Given the description of an element on the screen output the (x, y) to click on. 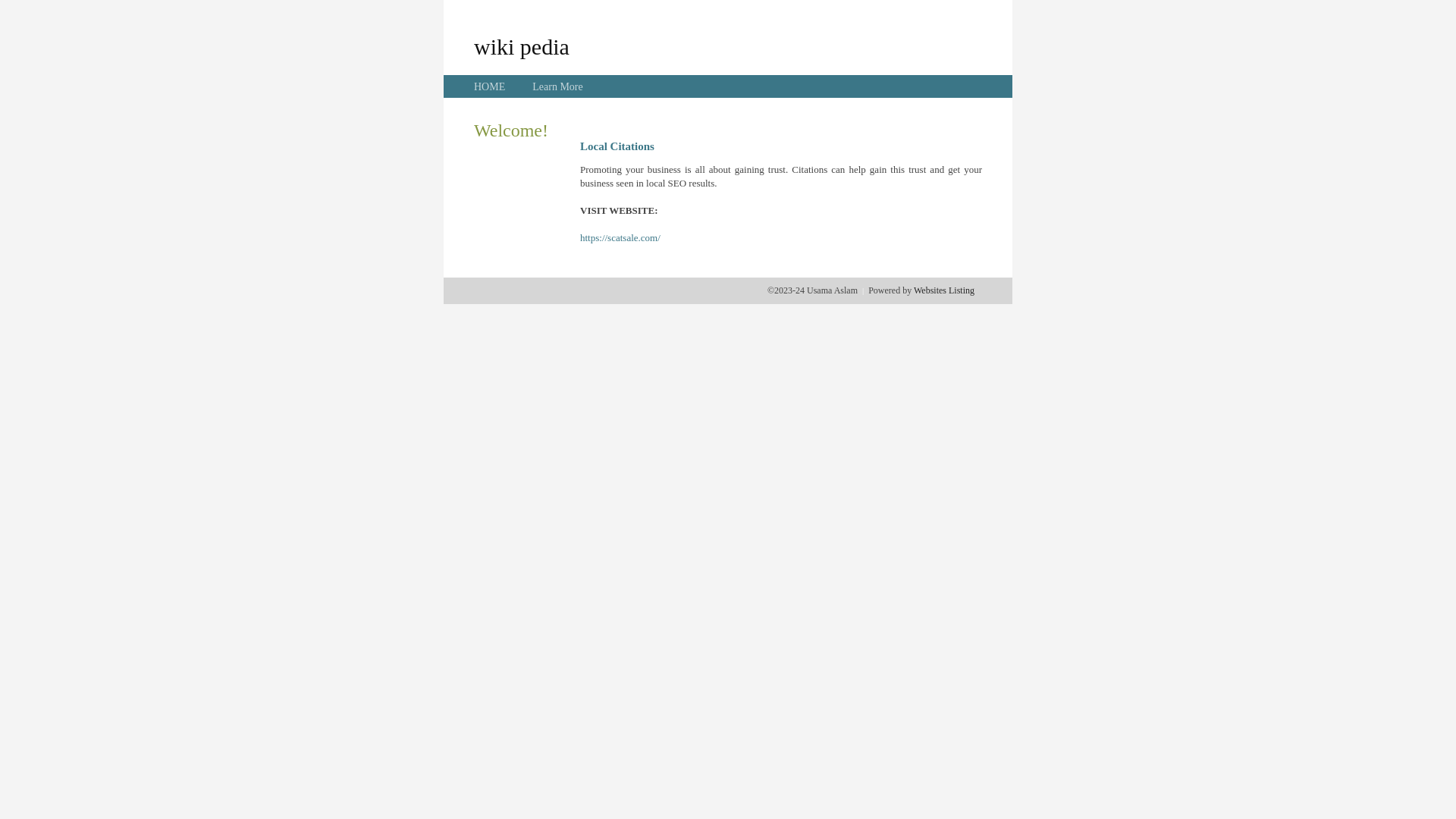
https://scatsale.com/ Element type: text (620, 237)
wiki pedia Element type: text (521, 46)
Websites Listing Element type: text (943, 290)
HOME Element type: text (489, 86)
Learn More Element type: text (557, 86)
